Given the description of an element on the screen output the (x, y) to click on. 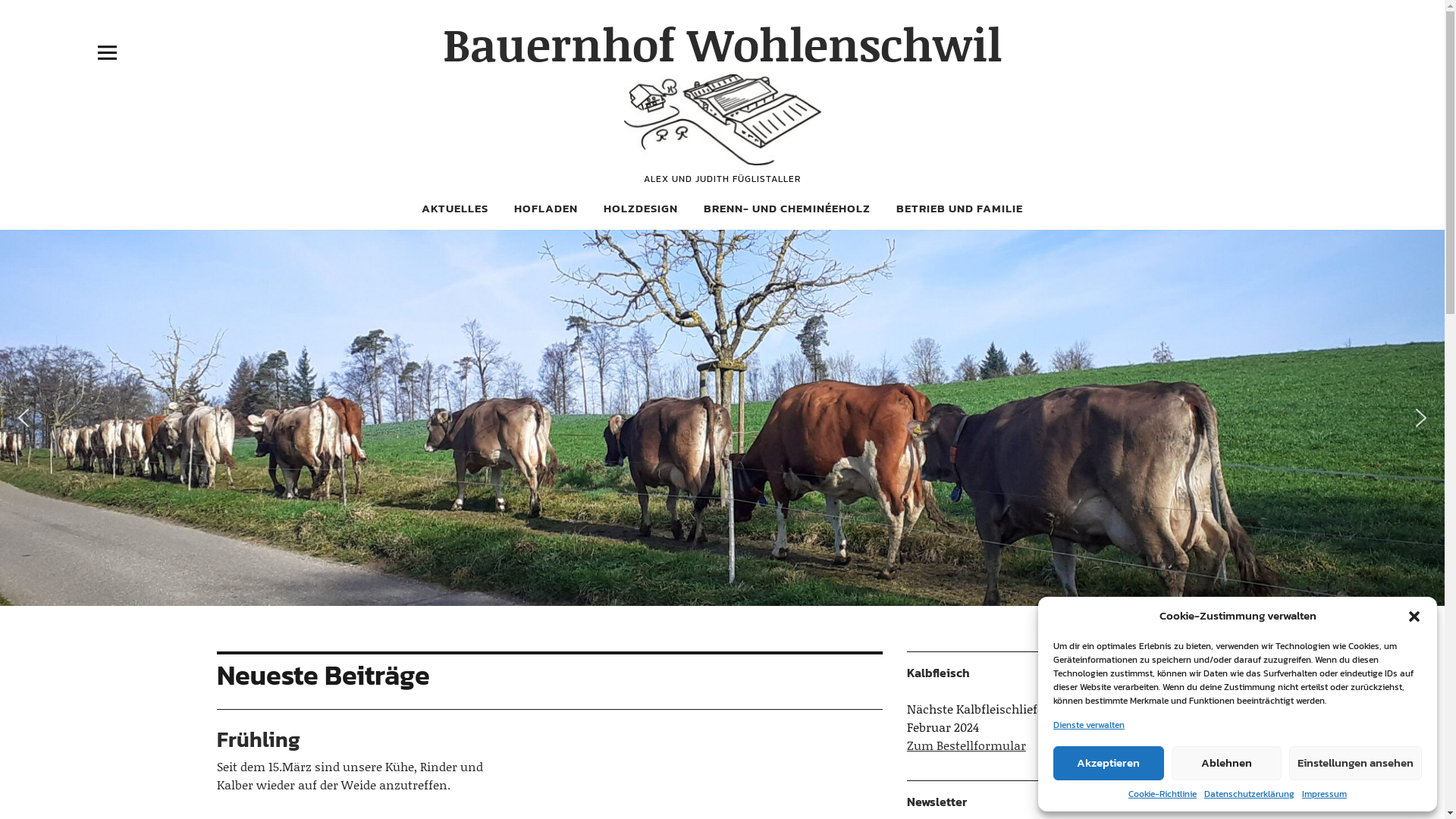
HOLZDESIGN Element type: text (640, 207)
Ablehnen Element type: text (1225, 763)
BETRIEB UND FAMILIE Element type: text (959, 207)
Impressum Element type: text (1324, 793)
Dienste verwalten Element type: text (1088, 724)
Akzeptieren Element type: text (1108, 763)
Cookie-Richtlinie Element type: text (1162, 793)
HOFLADEN Element type: text (545, 207)
Bauernhof Wohlenschwil Element type: text (721, 43)
Einstellungen ansehen Element type: text (1355, 763)
Zum Bestellformular Element type: text (966, 744)
AKTUELLES Element type: text (454, 207)
